Given the description of an element on the screen output the (x, y) to click on. 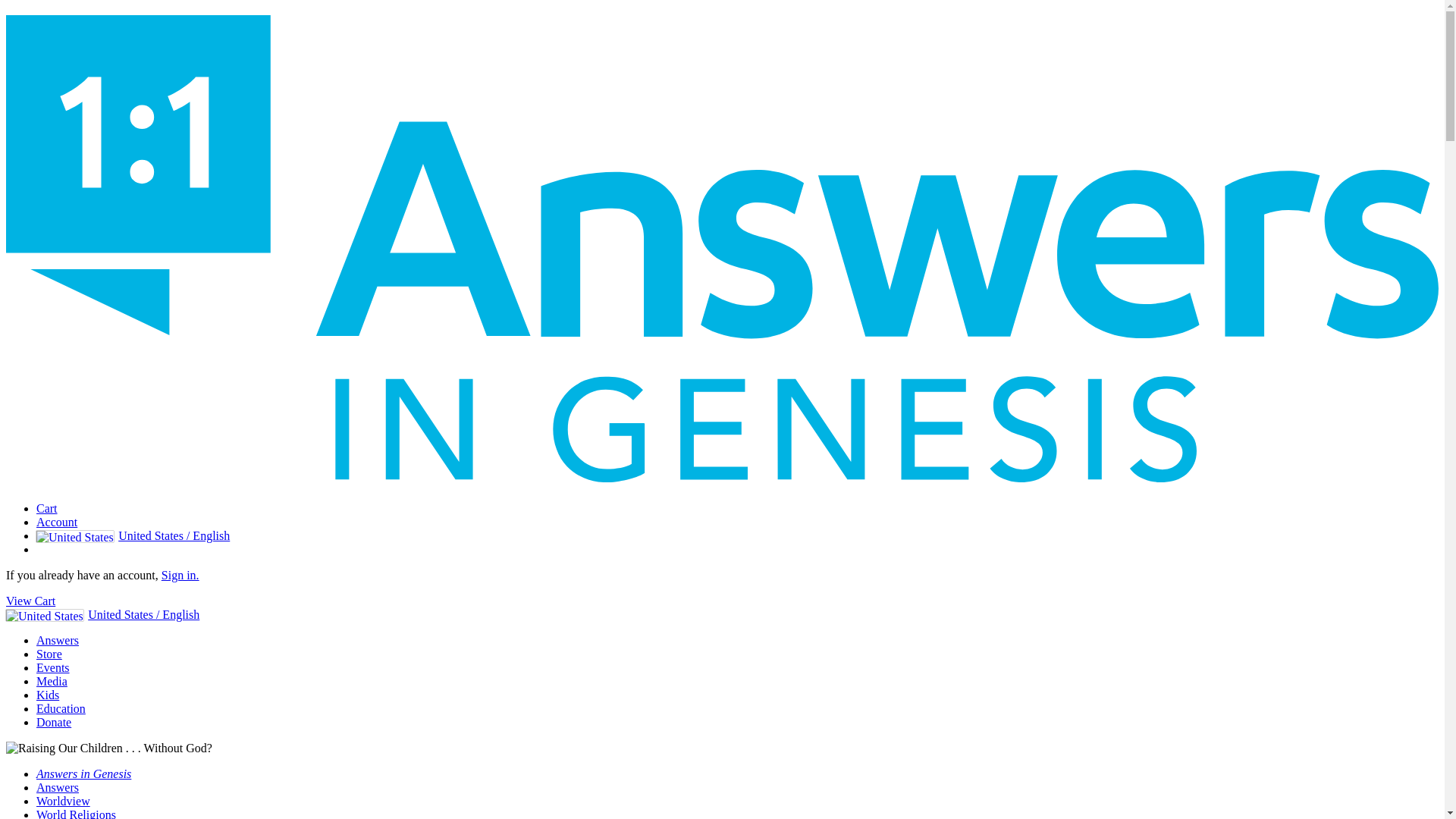
Cart (47, 508)
View Cart (30, 600)
Answers in Genesis (83, 773)
Events (52, 667)
Sign in. (180, 574)
Store (49, 653)
Education (60, 707)
World Religions (76, 813)
Account (56, 521)
Media (51, 680)
Answers (57, 640)
Donate (53, 721)
Kids (47, 694)
Answers (57, 787)
Worldview (63, 800)
